Given the description of an element on the screen output the (x, y) to click on. 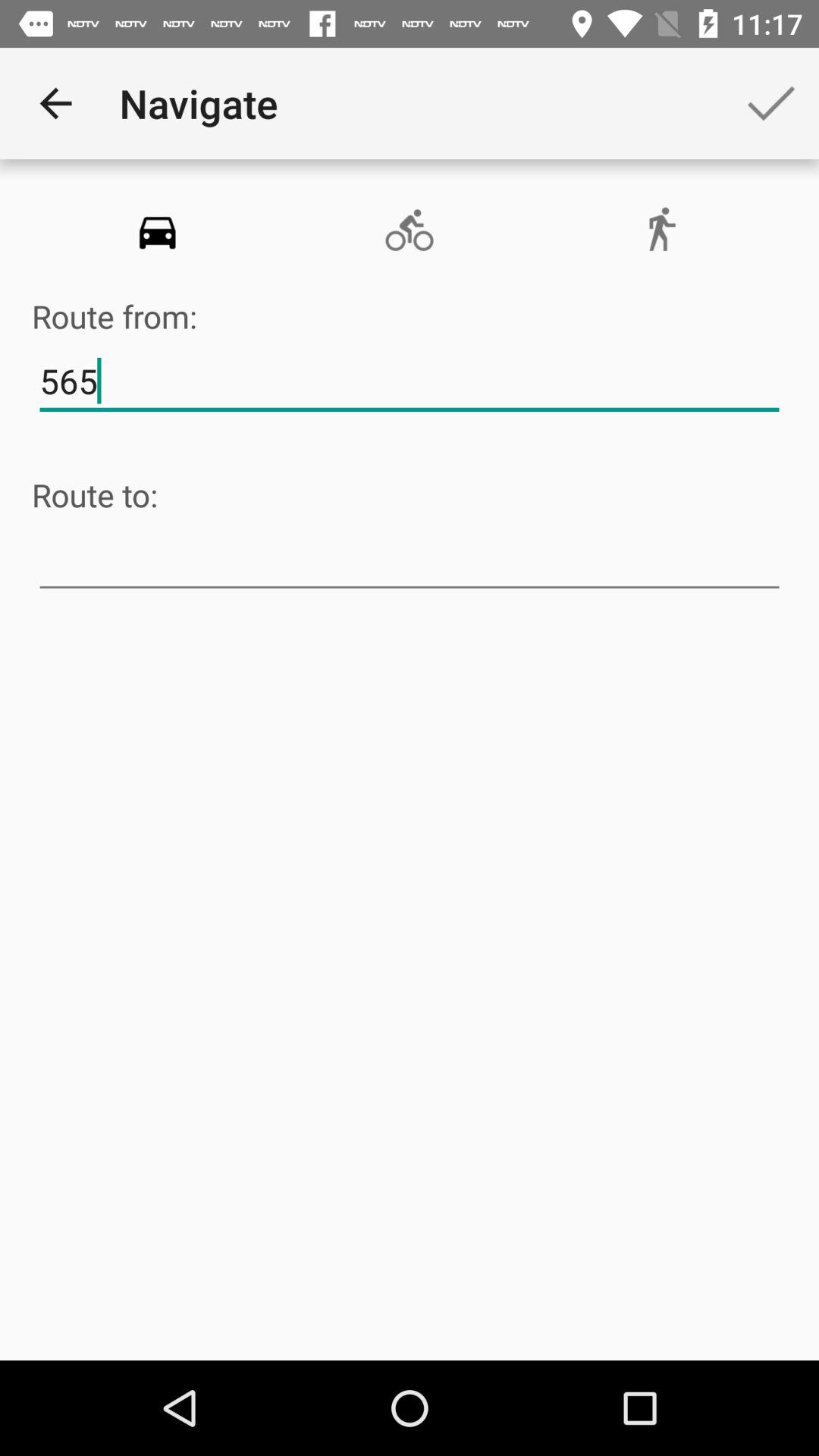
press item below route to: icon (409, 560)
